Given the description of an element on the screen output the (x, y) to click on. 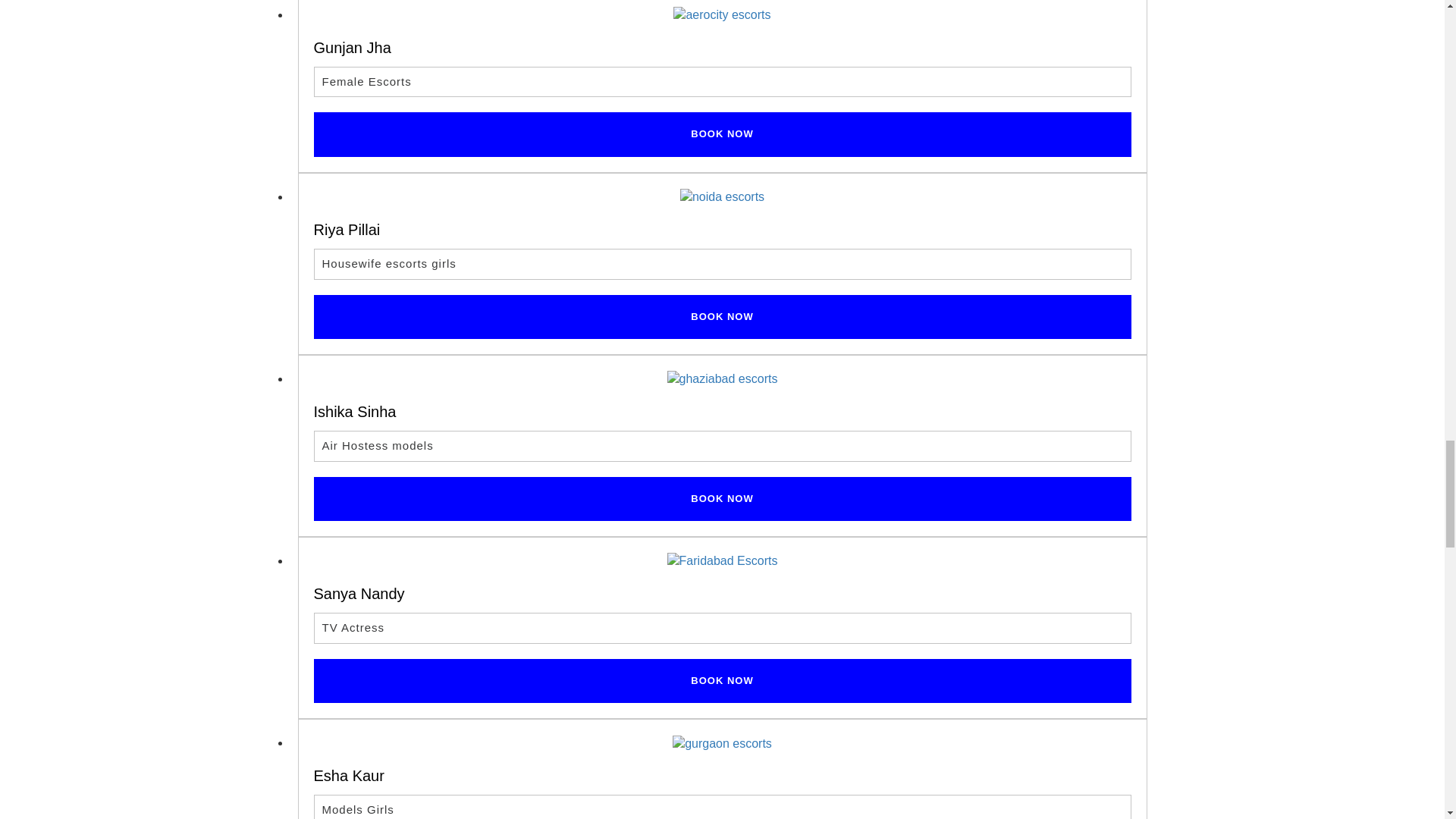
Book Now (722, 316)
Book Now (722, 134)
